Given the description of an element on the screen output the (x, y) to click on. 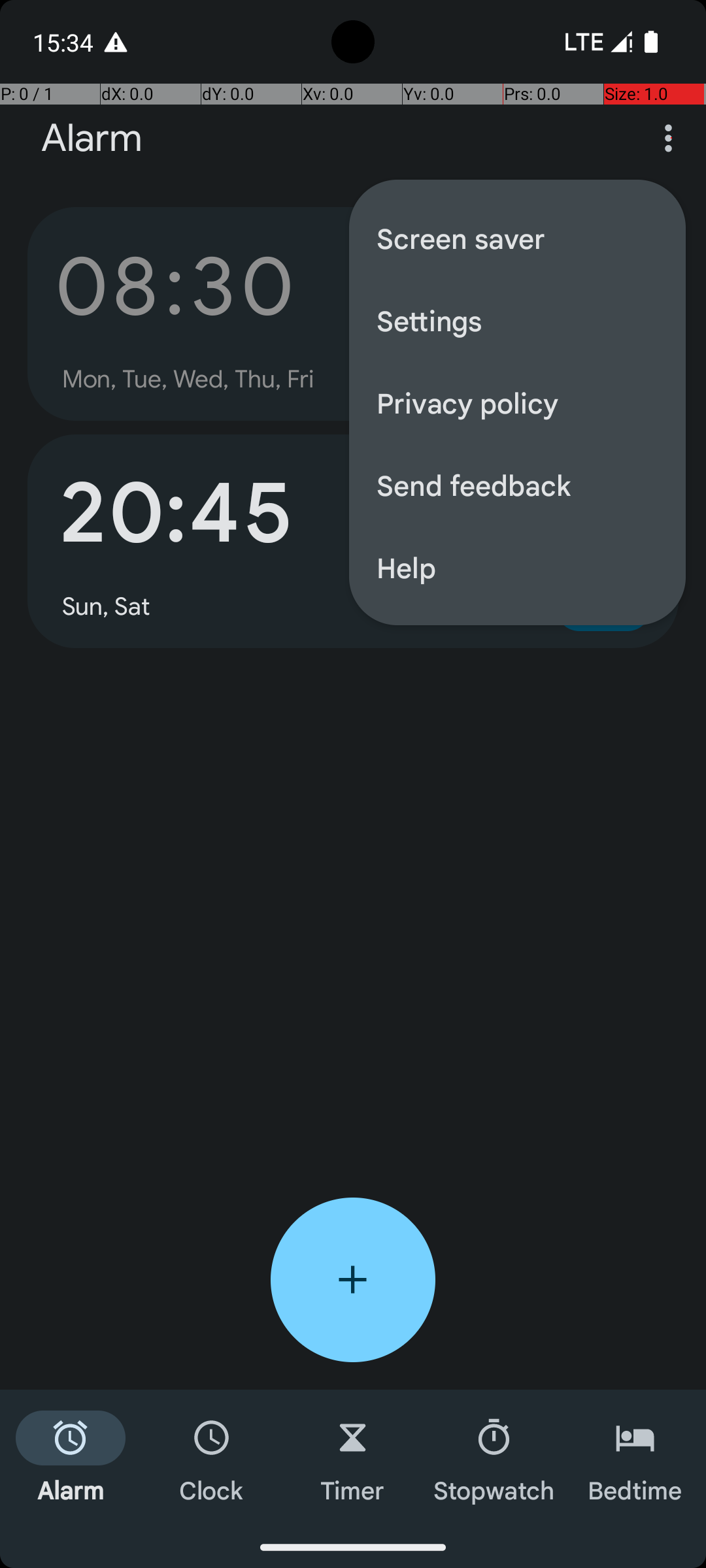
Screen saver Element type: android.widget.TextView (517, 237)
Privacy policy Element type: android.widget.TextView (517, 402)
Send feedback Element type: android.widget.TextView (517, 484)
Help Element type: android.widget.TextView (517, 566)
